Given the description of an element on the screen output the (x, y) to click on. 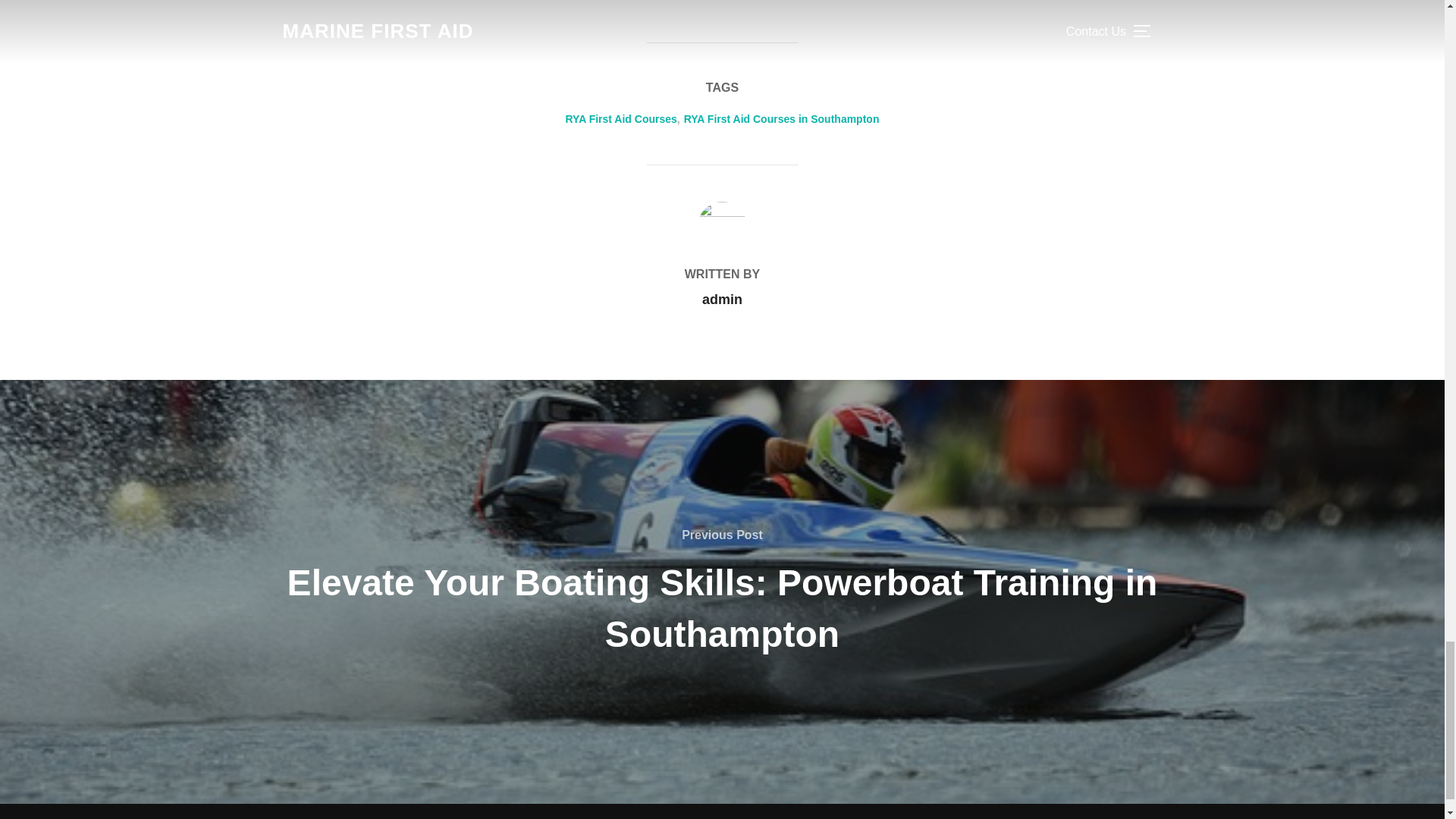
RYA First Aid Courses in Southampton (781, 119)
RYA First Aid Courses (621, 119)
Posts by admin (721, 299)
admin (721, 299)
